Given the description of an element on the screen output the (x, y) to click on. 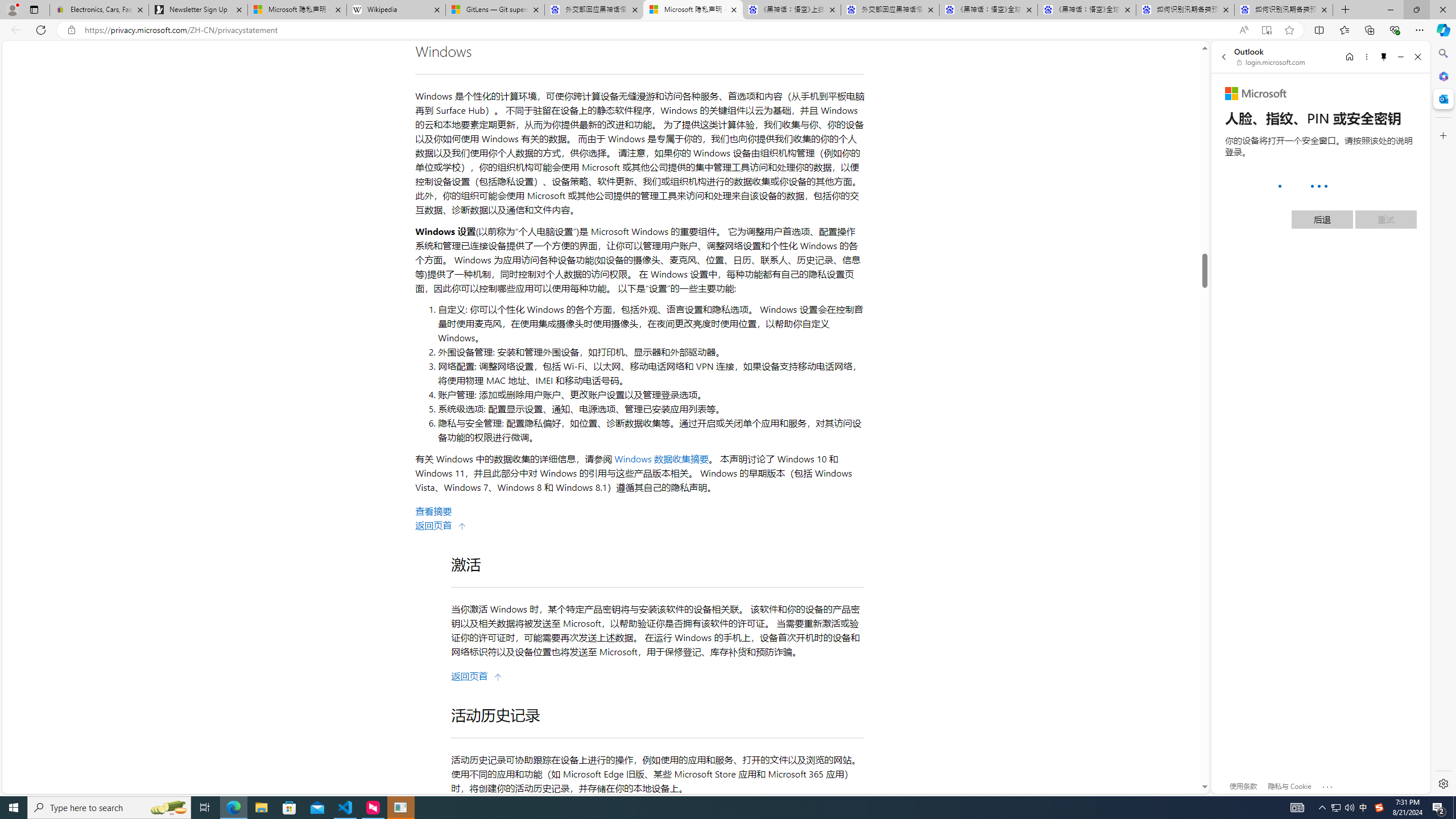
Wikipedia (395, 9)
Microsoft (1255, 93)
